Given the description of an element on the screen output the (x, y) to click on. 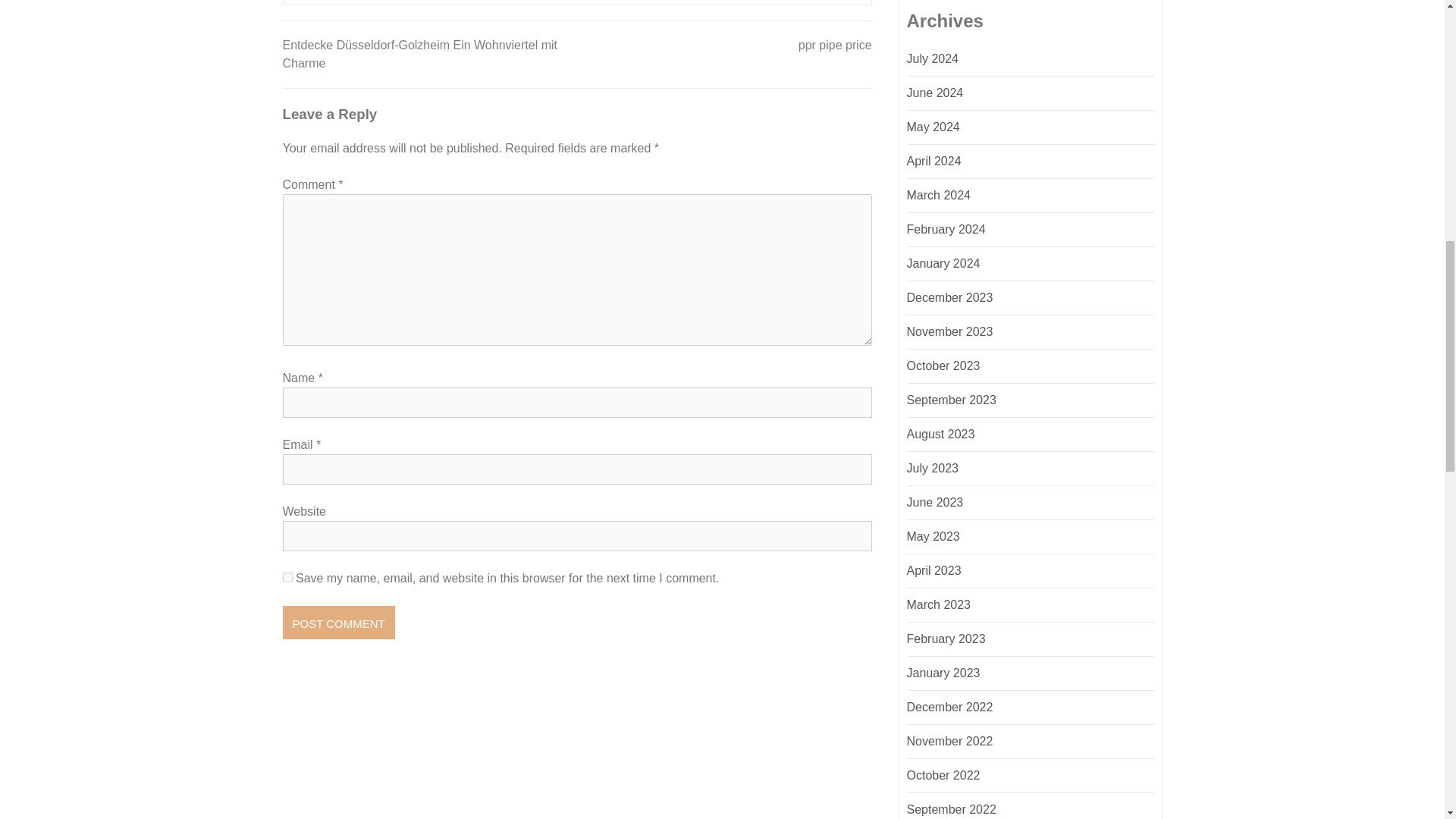
July 2024 (933, 58)
May 2024 (933, 126)
Post Comment (338, 622)
ppr pipe price (834, 44)
March 2024 (939, 195)
yes (287, 577)
Post Comment (338, 622)
April 2024 (933, 160)
June 2024 (935, 92)
February 2024 (946, 228)
